Given the description of an element on the screen output the (x, y) to click on. 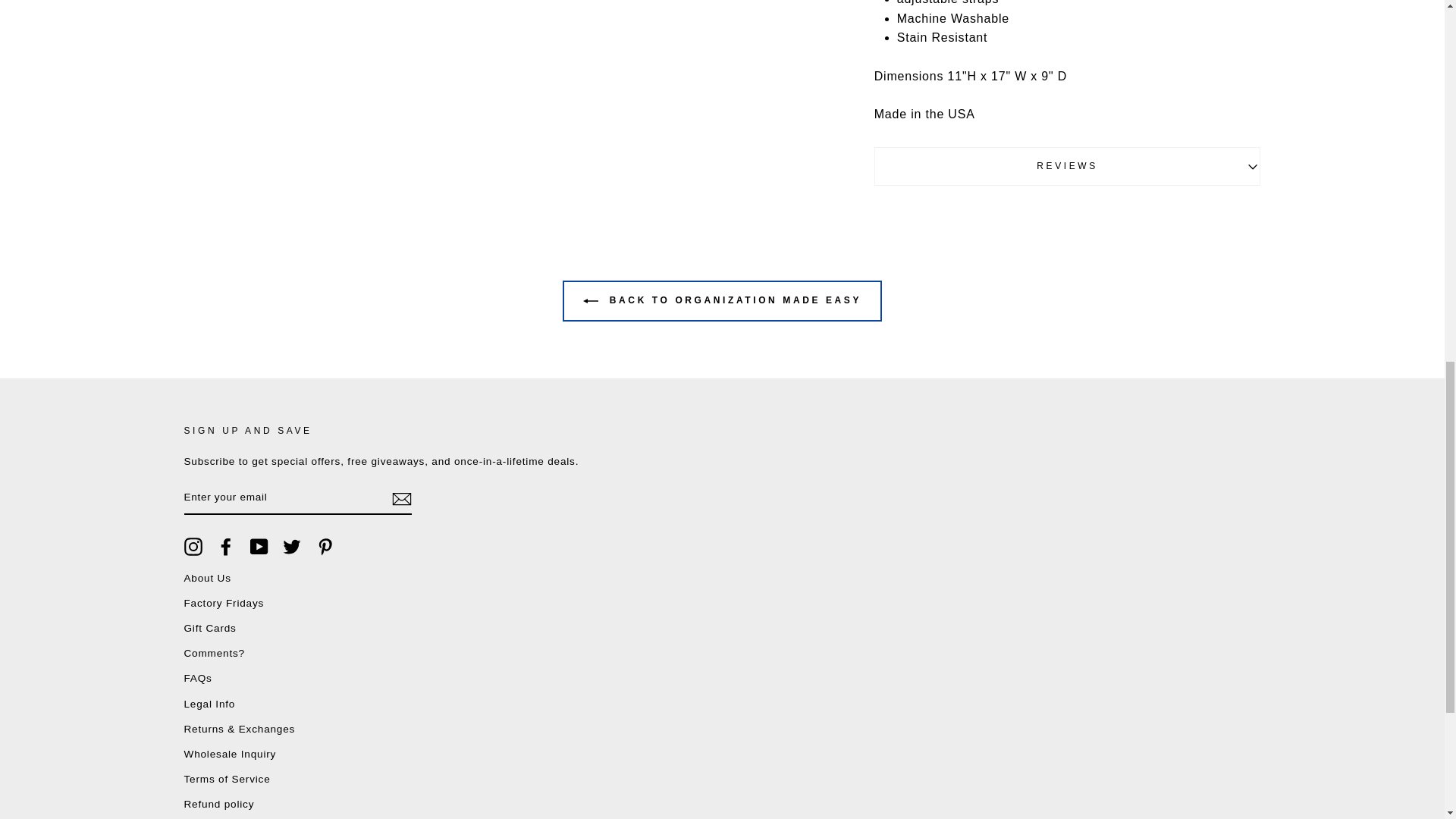
cinda b on Pinterest (324, 546)
cinda b on YouTube (258, 546)
cinda b on Instagram (192, 546)
cinda b on Facebook (225, 546)
cinda b on Twitter (291, 546)
